Given the description of an element on the screen output the (x, y) to click on. 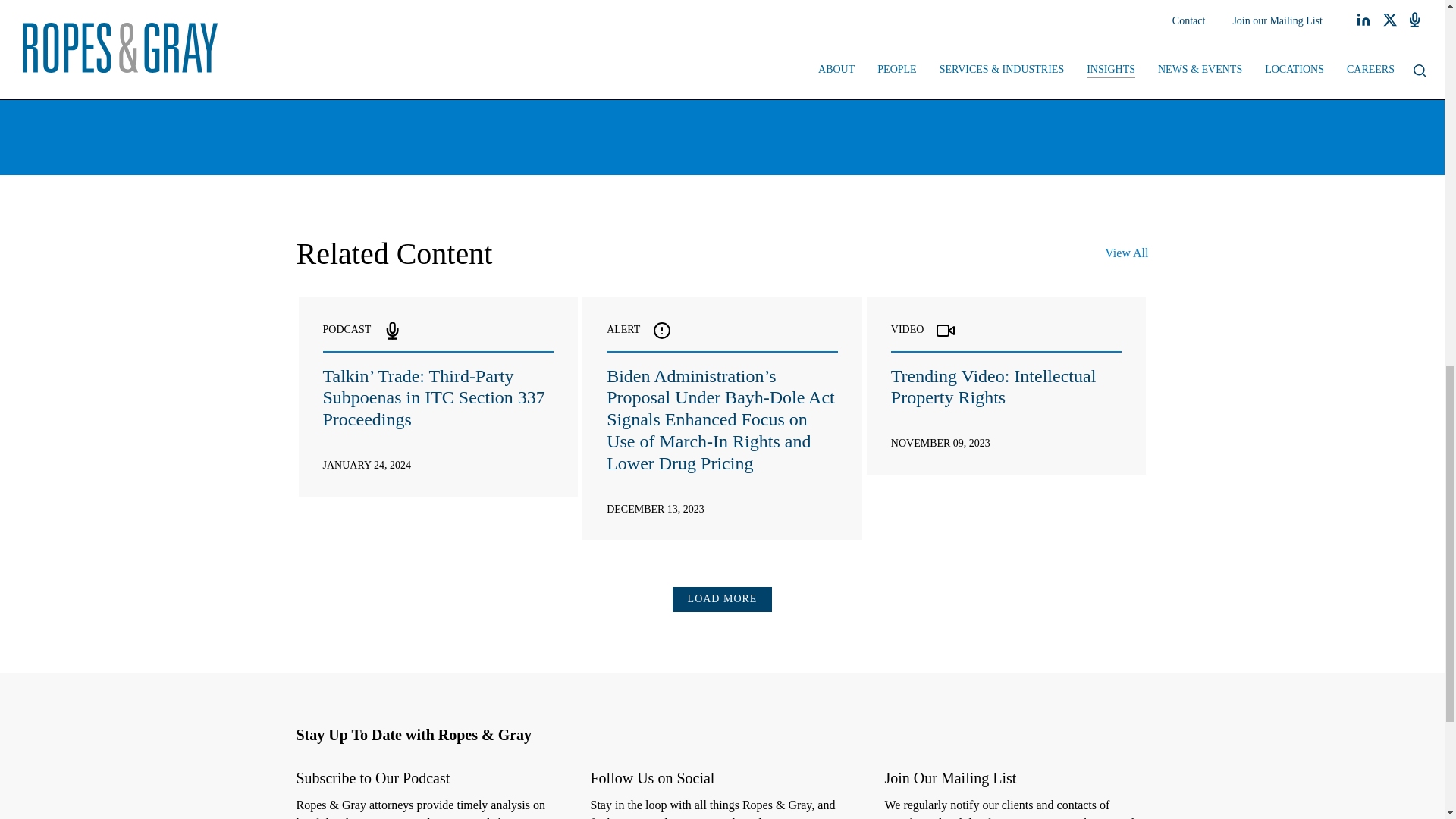
View All (1126, 253)
INTELLECTUAL PROPERTY LITIGATION (679, 14)
LOAD MORE (722, 599)
